Given the description of an element on the screen output the (x, y) to click on. 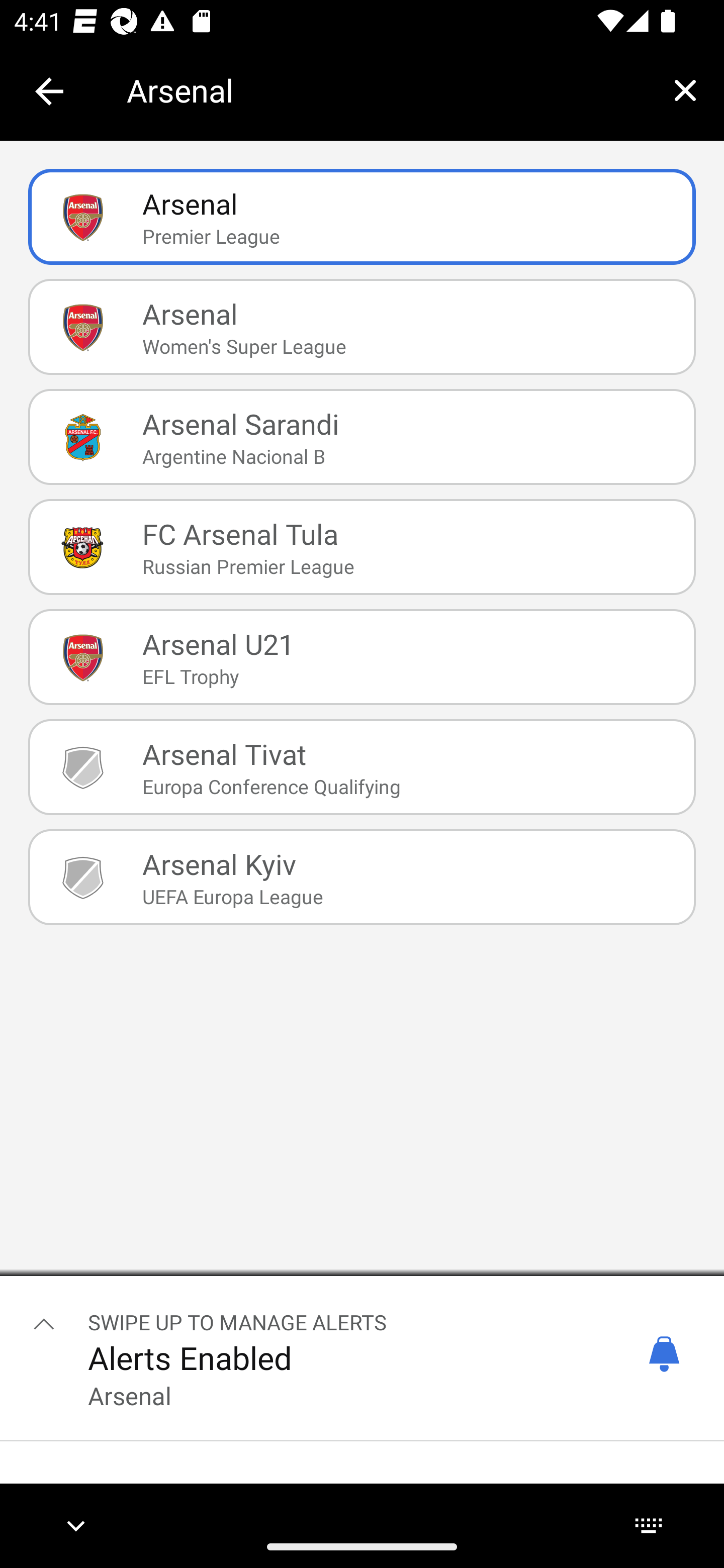
Collapse (49, 91)
Clear query (685, 89)
Arsenal (386, 90)
Arsenal ArsenalSelected Premier League (361, 216)
Arsenal Women's Super League (361, 326)
Arsenal Sarandi Argentine Nacional B (361, 436)
FC Arsenal Tula Russian Premier League (361, 546)
Arsenal U21 EFL Trophy (361, 656)
Arsenal Tivat Europa Conference Qualifying (361, 767)
Arsenal Kyiv UEFA Europa League (361, 877)
 (44, 1323)
